Given the description of an element on the screen output the (x, y) to click on. 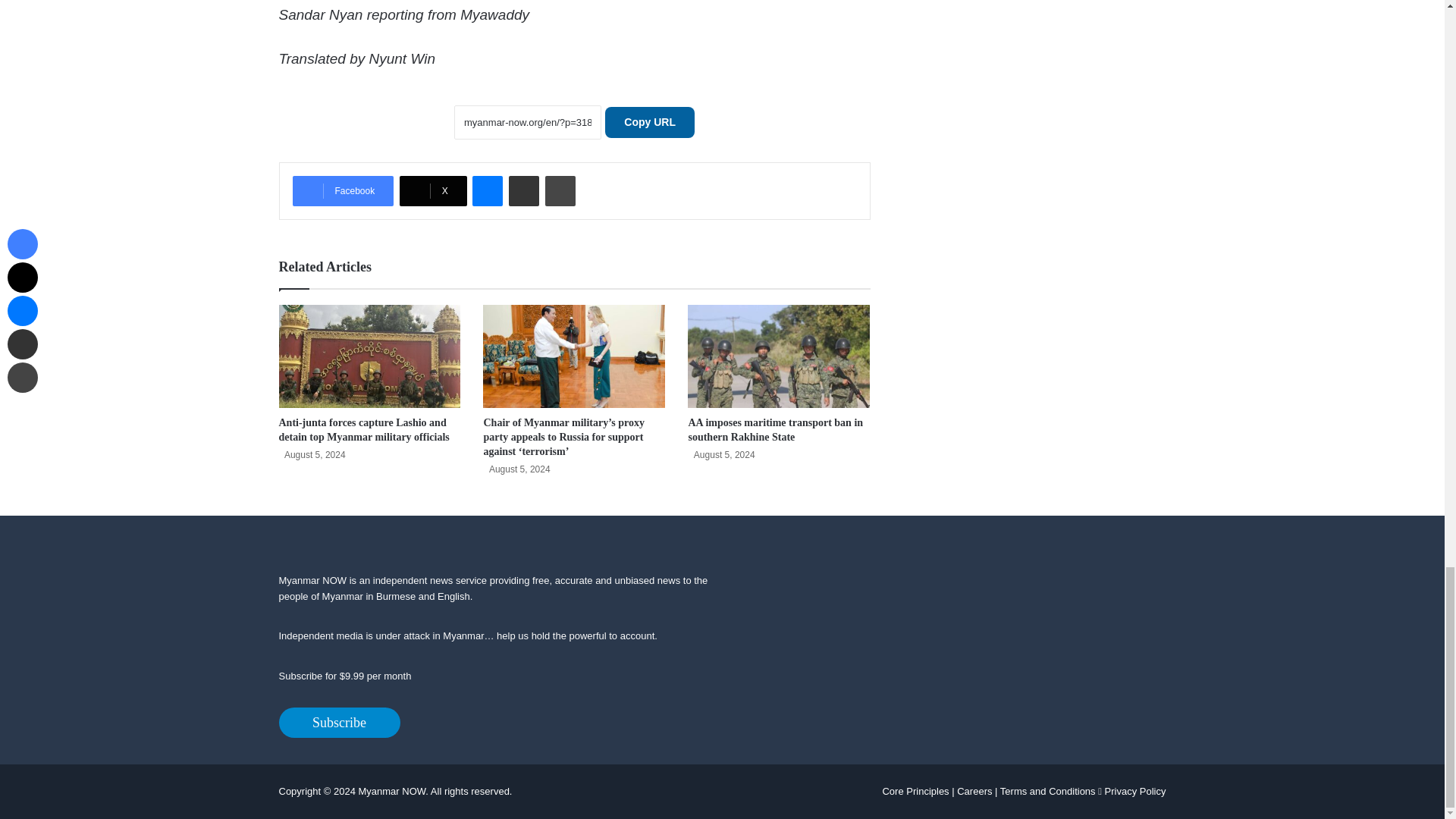
Facebook (343, 191)
Share via Email (523, 191)
Facebook (343, 191)
Copy URL (649, 122)
Messenger (486, 191)
X (432, 191)
AA imposes maritime transport ban in southern Rakhine State (775, 429)
Messenger (486, 191)
X (432, 191)
Print (559, 191)
Print (559, 191)
Share via Email (523, 191)
